Given the description of an element on the screen output the (x, y) to click on. 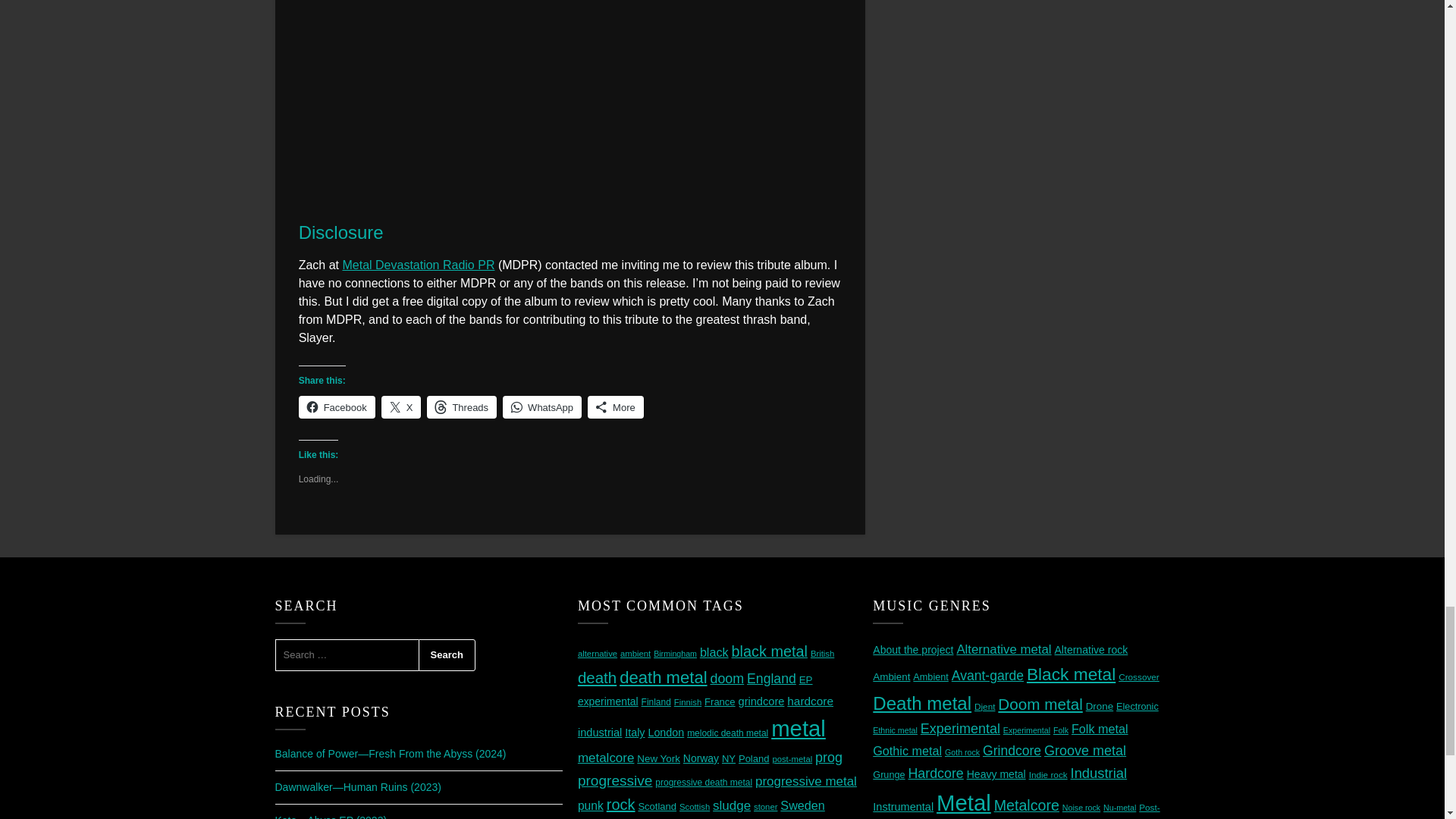
More (615, 406)
X (401, 406)
Metal Devastation Radio PR (418, 264)
Click to share on WhatsApp (541, 406)
Threads (461, 406)
Click to share on Facebook (336, 406)
Click to share on X (401, 406)
Click to share on Threads (461, 406)
Dead Skin Mask (569, 97)
Search (447, 654)
